Given the description of an element on the screen output the (x, y) to click on. 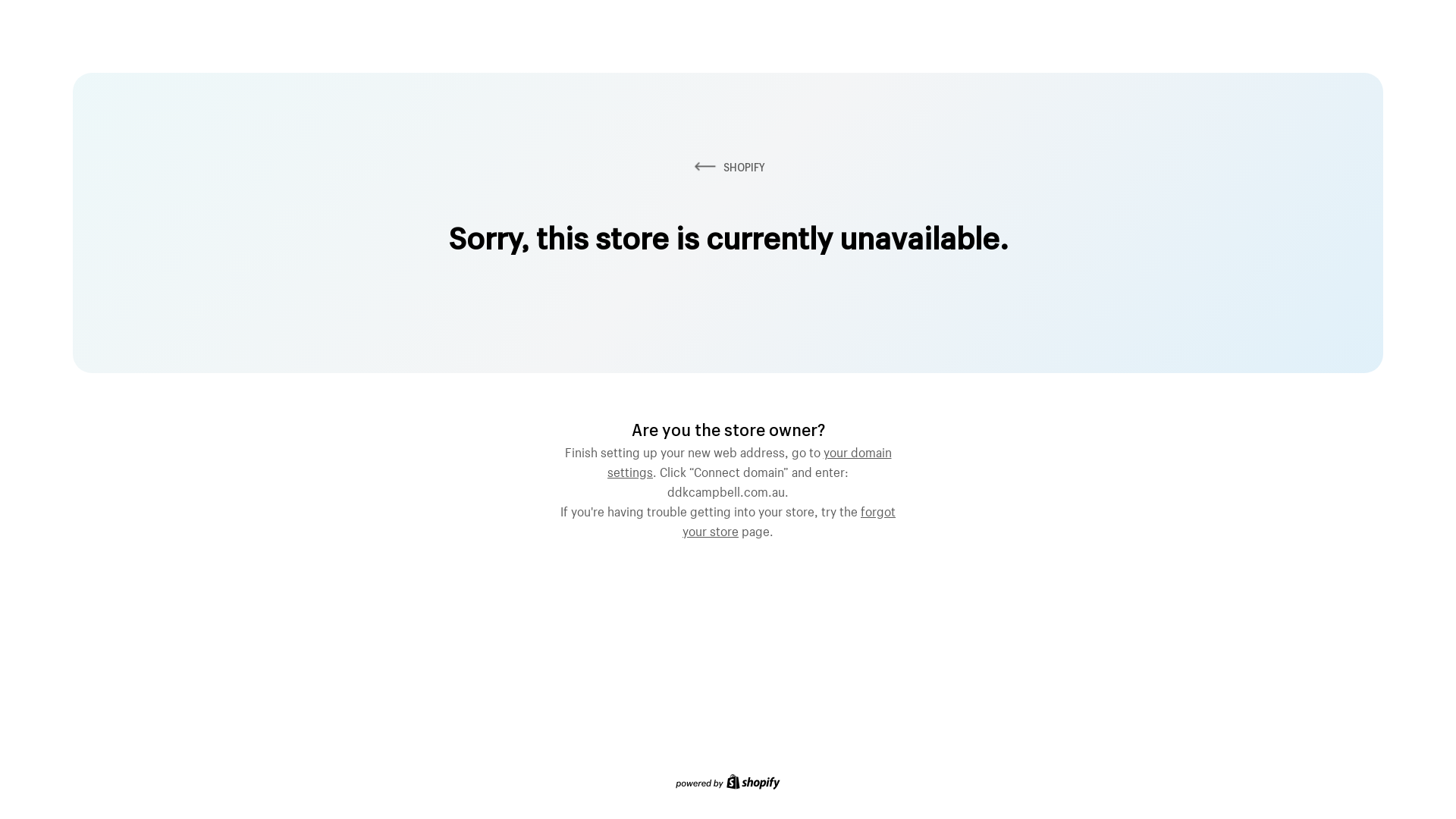
forgot your store Element type: text (788, 519)
SHOPIFY Element type: text (727, 167)
your domain settings Element type: text (749, 460)
